Given the description of an element on the screen output the (x, y) to click on. 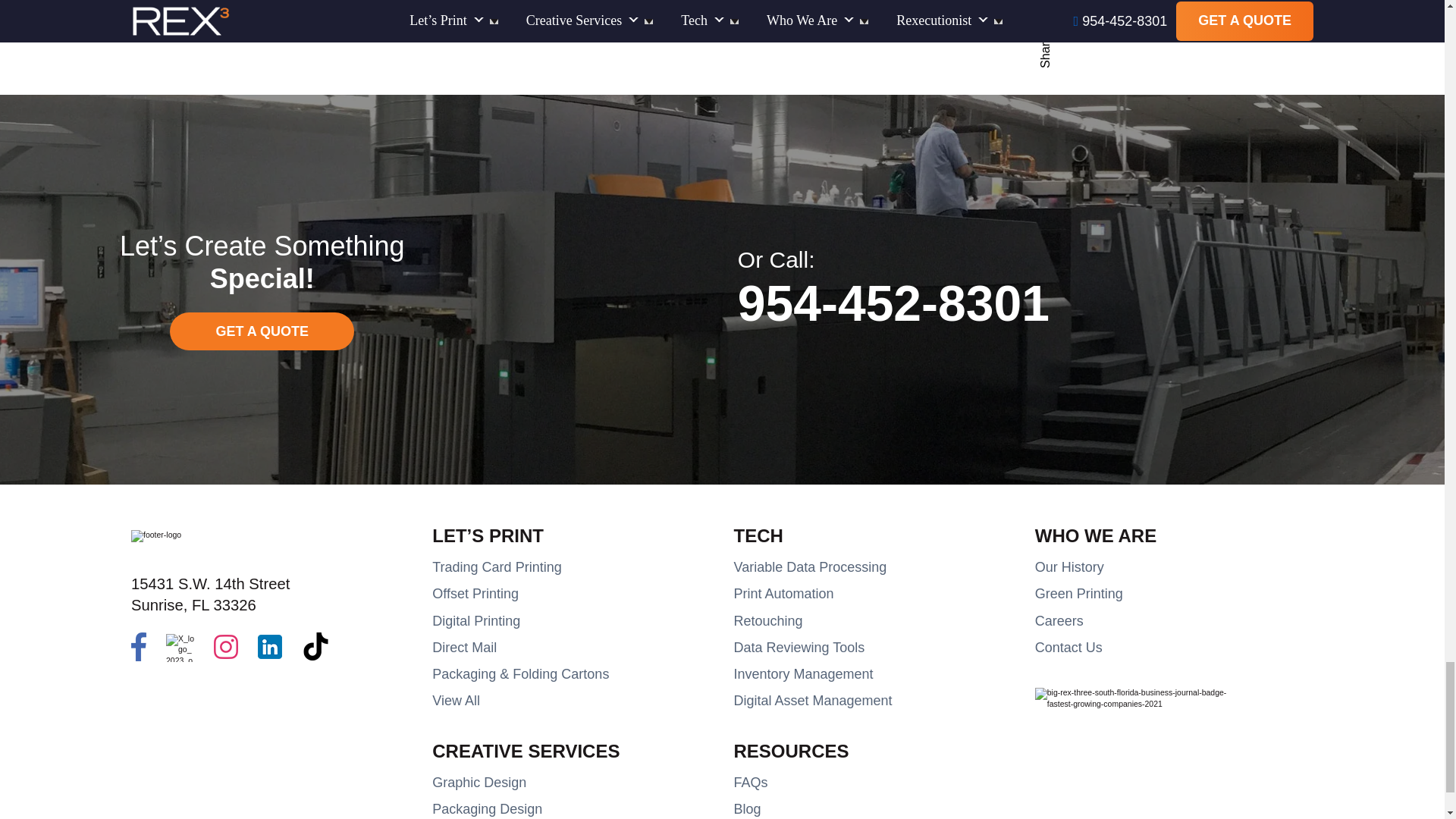
footer-logo (155, 535)
Get a Quote (261, 331)
